Given the description of an element on the screen output the (x, y) to click on. 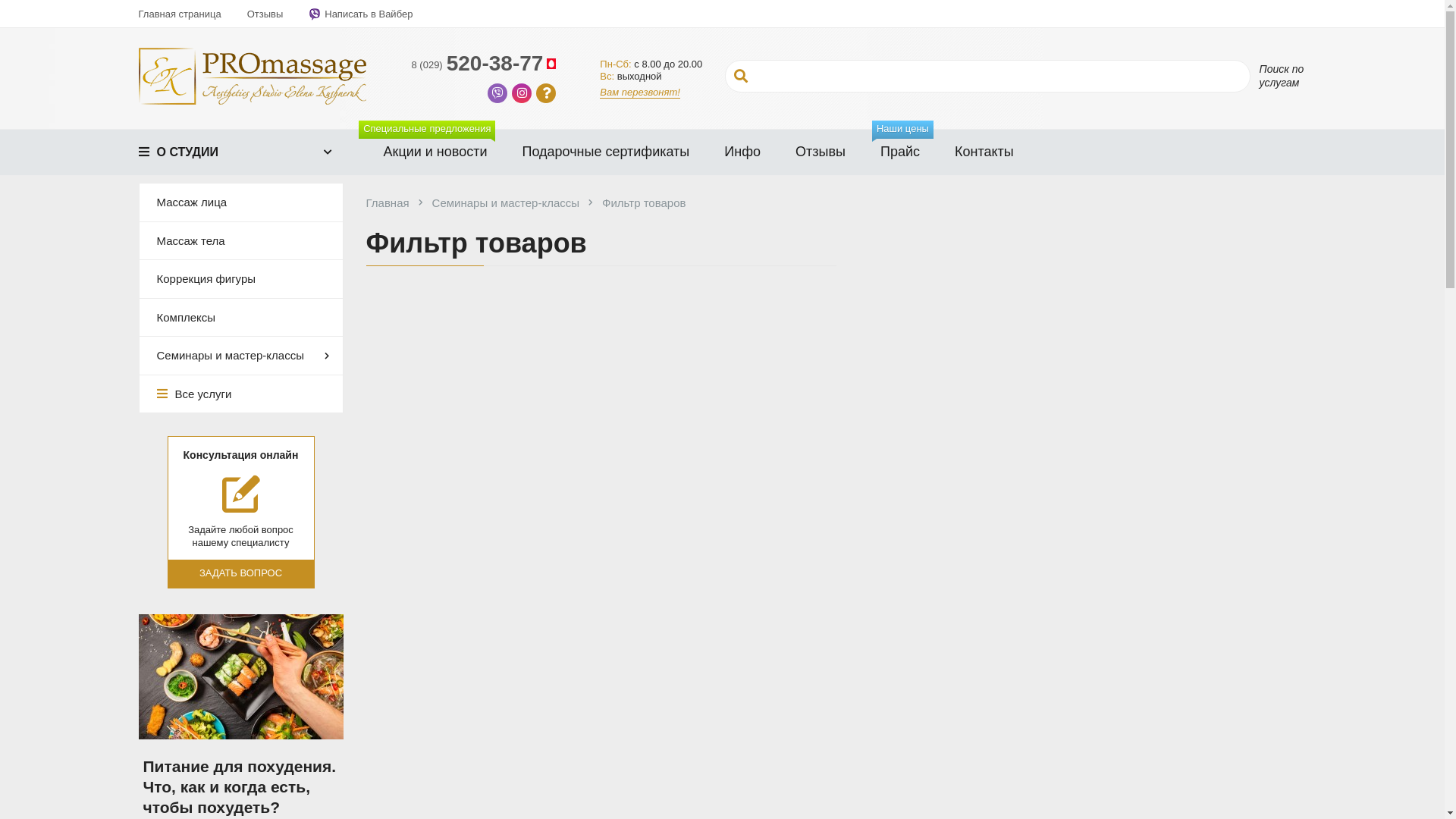
8 (029)
520-38-77 Element type: text (484, 63)
